Given the description of an element on the screen output the (x, y) to click on. 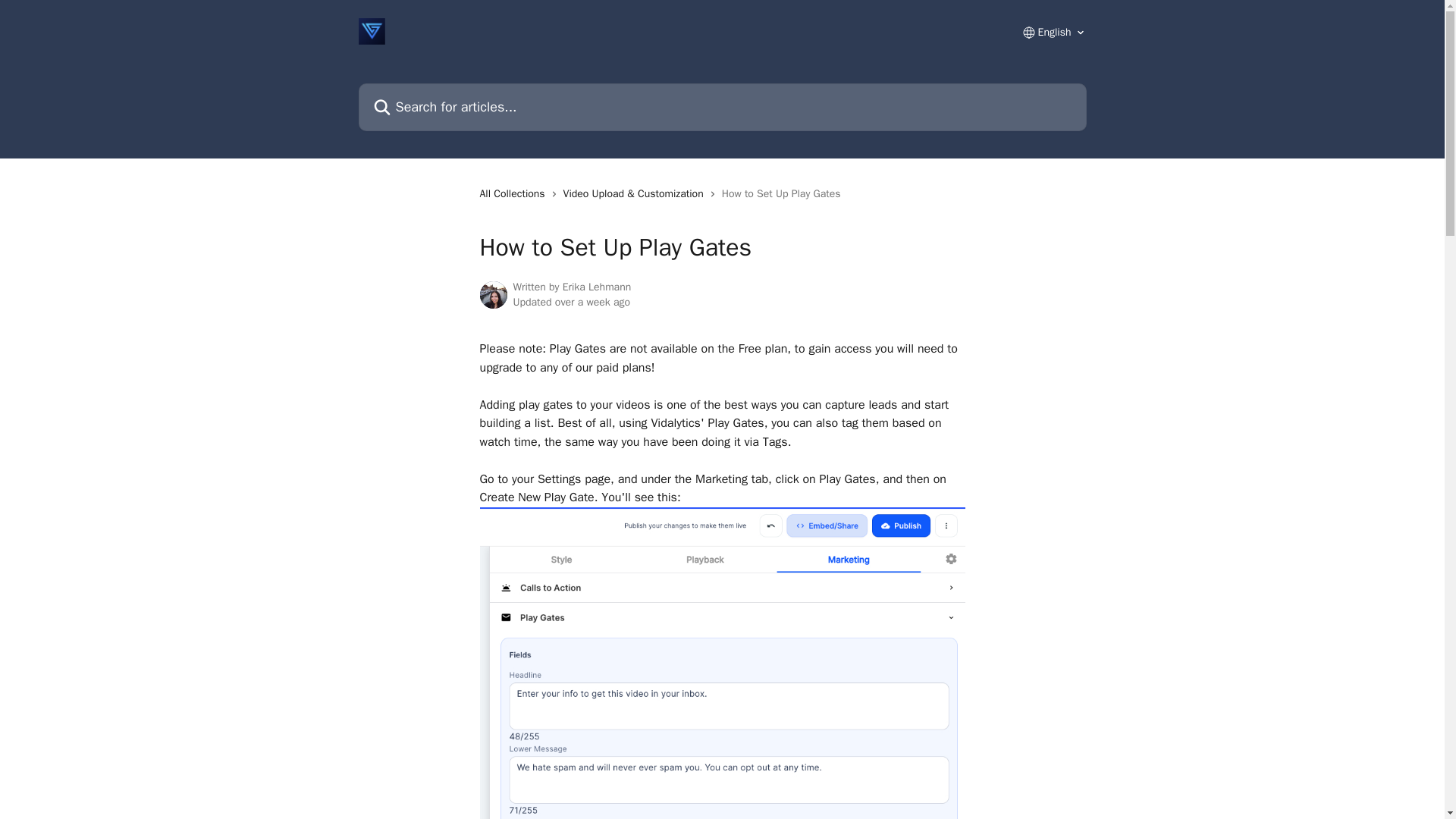
All Collections (514, 193)
